Given the description of an element on the screen output the (x, y) to click on. 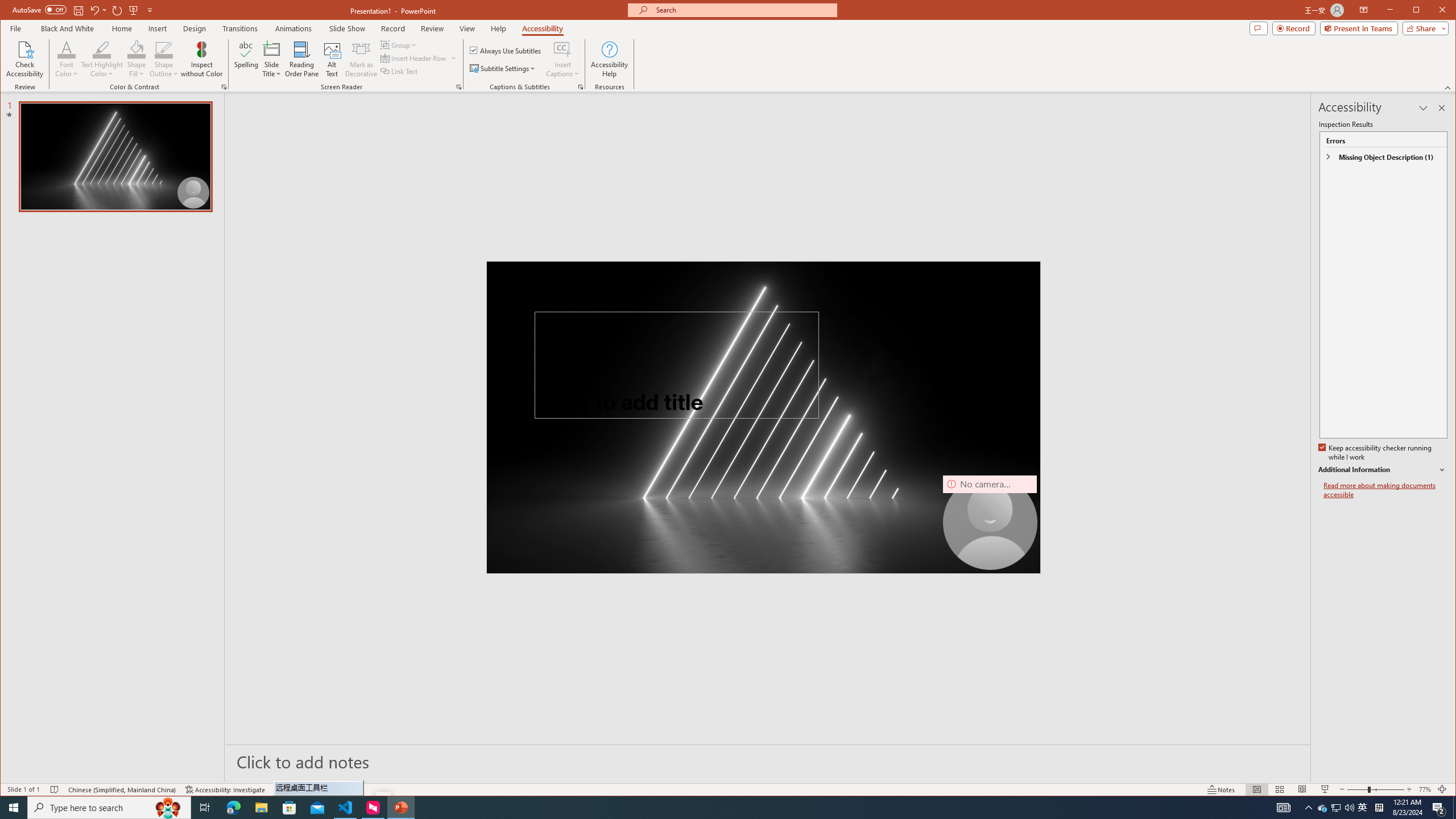
Maximize (1432, 11)
Color & Contrast (223, 86)
